Given the description of an element on the screen output the (x, y) to click on. 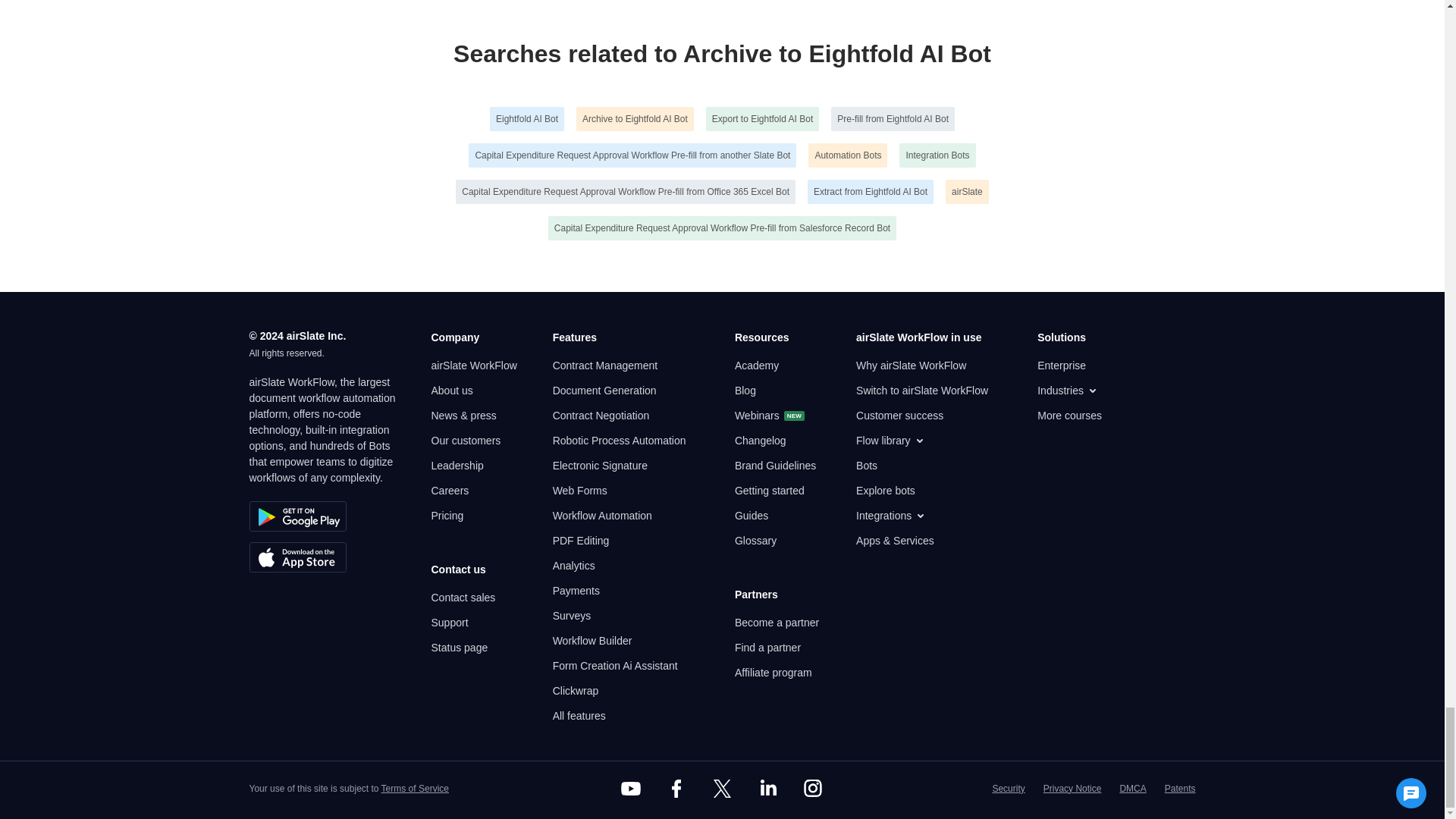
YouTube (630, 788)
Instagram (812, 788)
Facebook (676, 788)
LinkedIn (767, 788)
Twitter (721, 788)
